Given the description of an element on the screen output the (x, y) to click on. 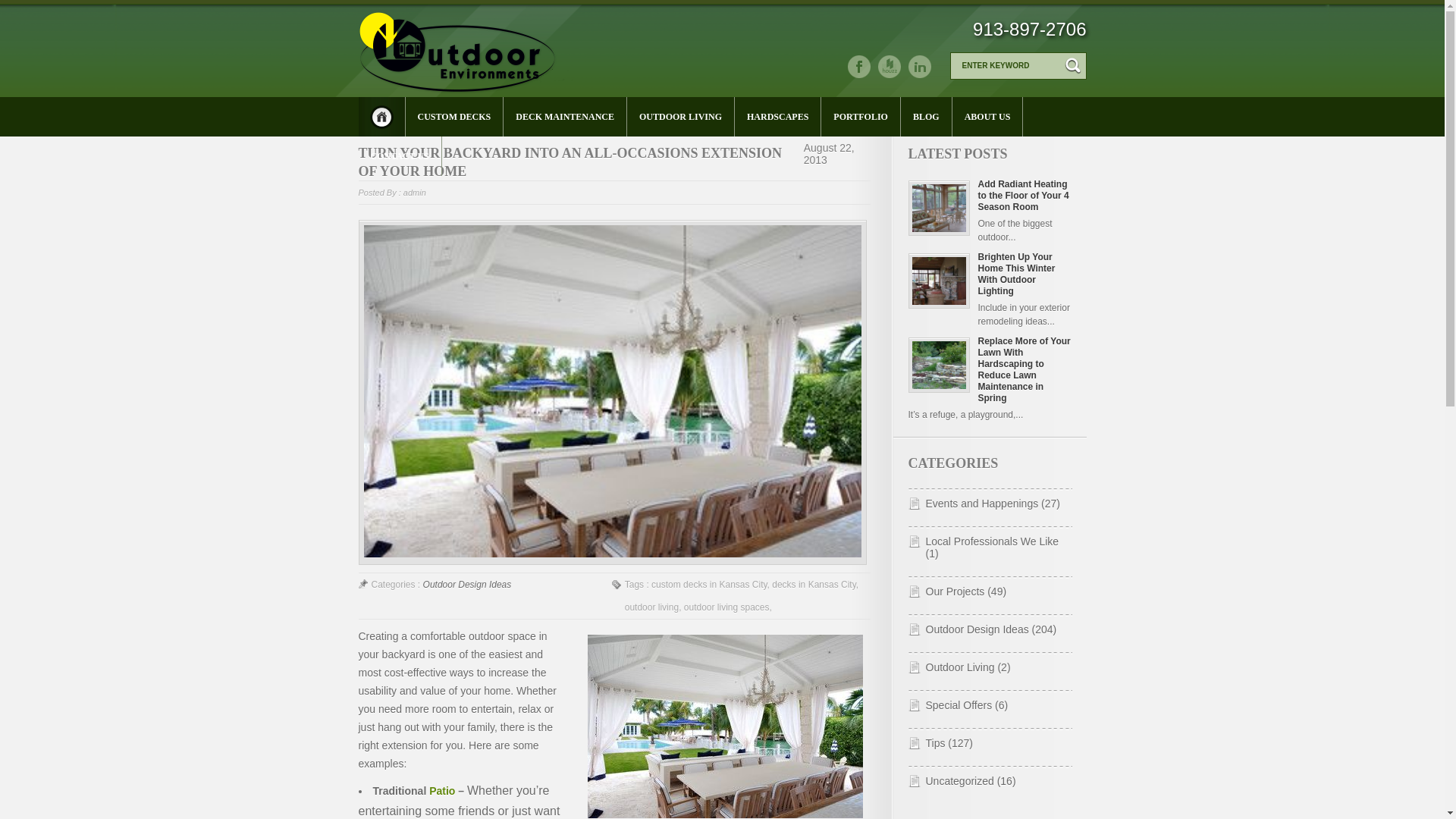
CUSTOM DECKS (453, 116)
HOME (381, 116)
Outdoor Design Ideas (467, 584)
CONTACT US (399, 156)
Brighten Up Your Home This Winter With Outdoor Lighting (1015, 273)
OUTDOOR LIVING (681, 116)
Enter Keyword (1007, 65)
PORTFOLIO (861, 116)
Home (381, 116)
Add Radiant Heating to the Floor of Your 4 Season Room (1022, 195)
DECK MAINTENANCE (565, 116)
HARDSCAPES (778, 116)
BLOG (926, 116)
Patio (441, 790)
